Given the description of an element on the screen output the (x, y) to click on. 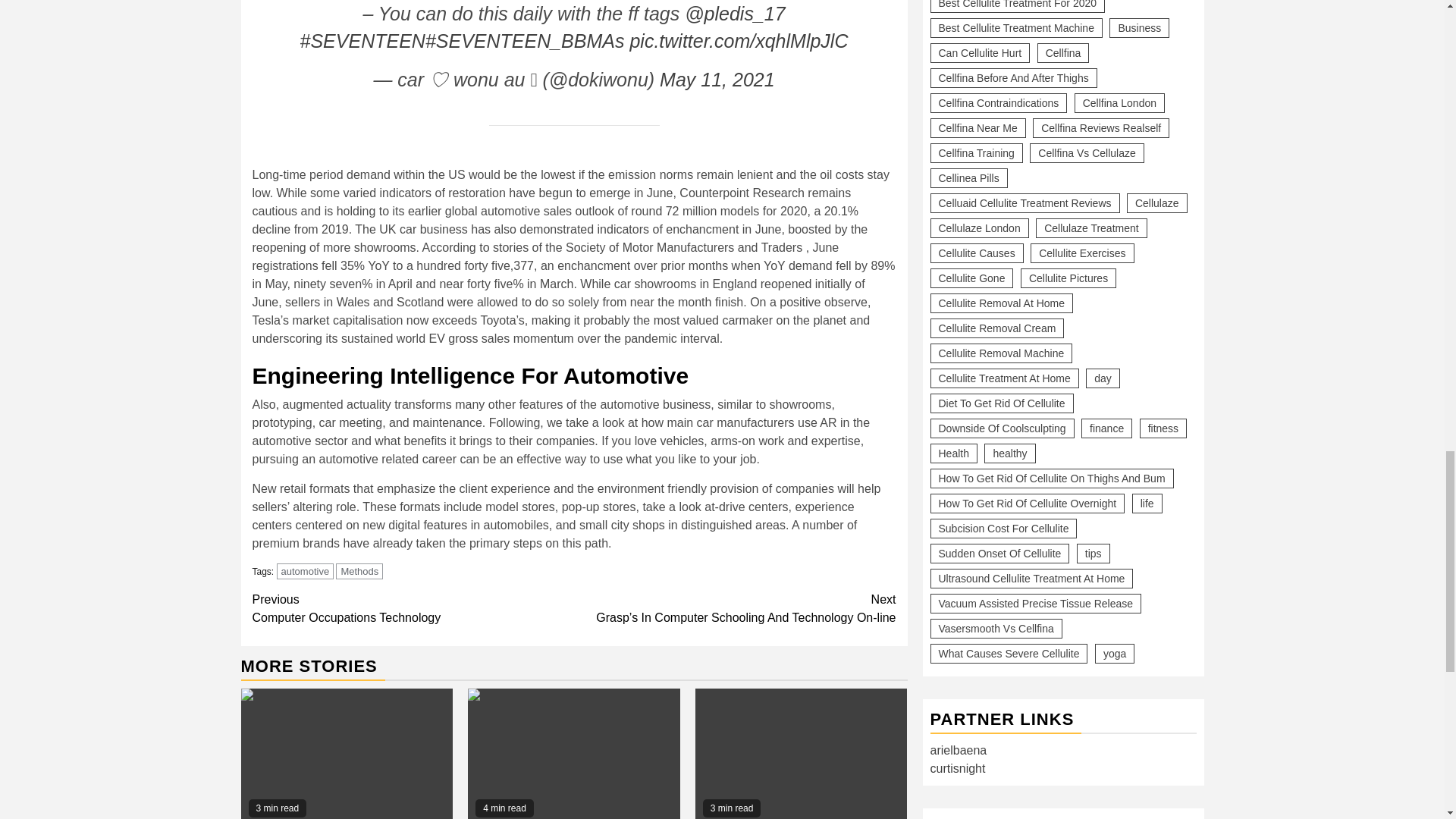
Seedbacklink (943, 398)
Methods (359, 571)
automotive (305, 571)
May 11, 2021 (716, 79)
